Given the description of an element on the screen output the (x, y) to click on. 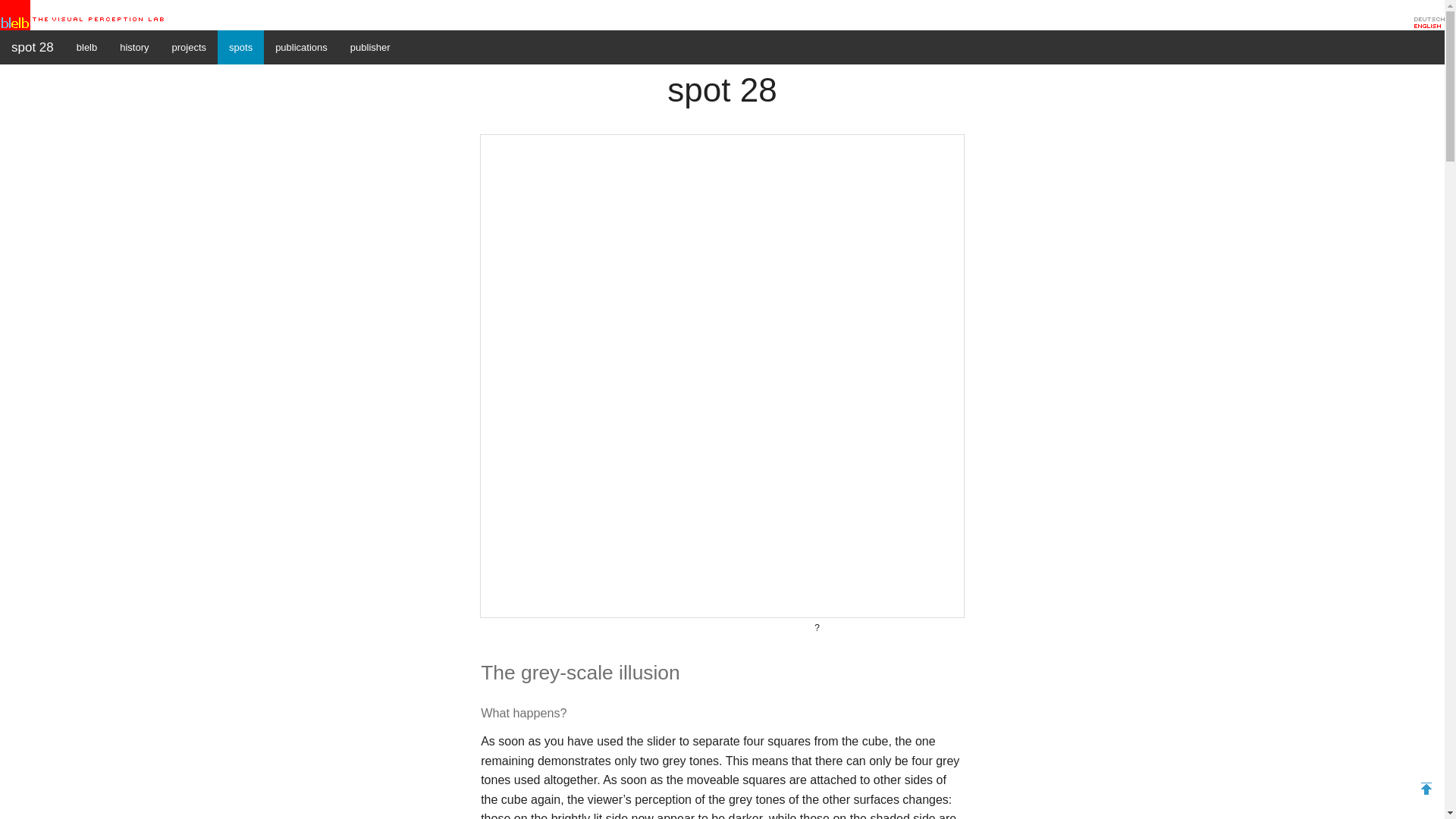
projects (189, 47)
publications (301, 47)
spots (239, 47)
publisher (370, 47)
help (721, 627)
history (133, 47)
spot 28 (32, 47)
blelb (86, 47)
